Given the description of an element on the screen output the (x, y) to click on. 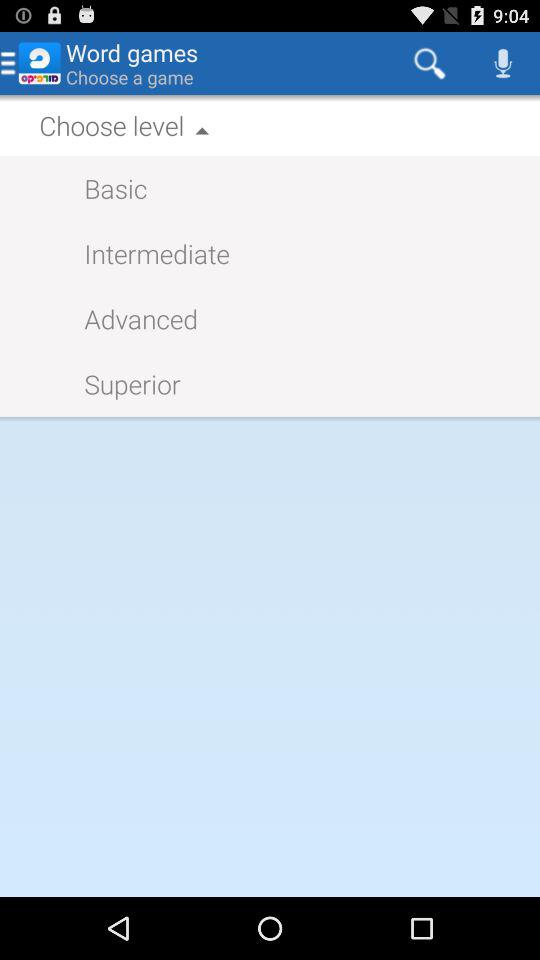
swipe to advanced (131, 318)
